Given the description of an element on the screen output the (x, y) to click on. 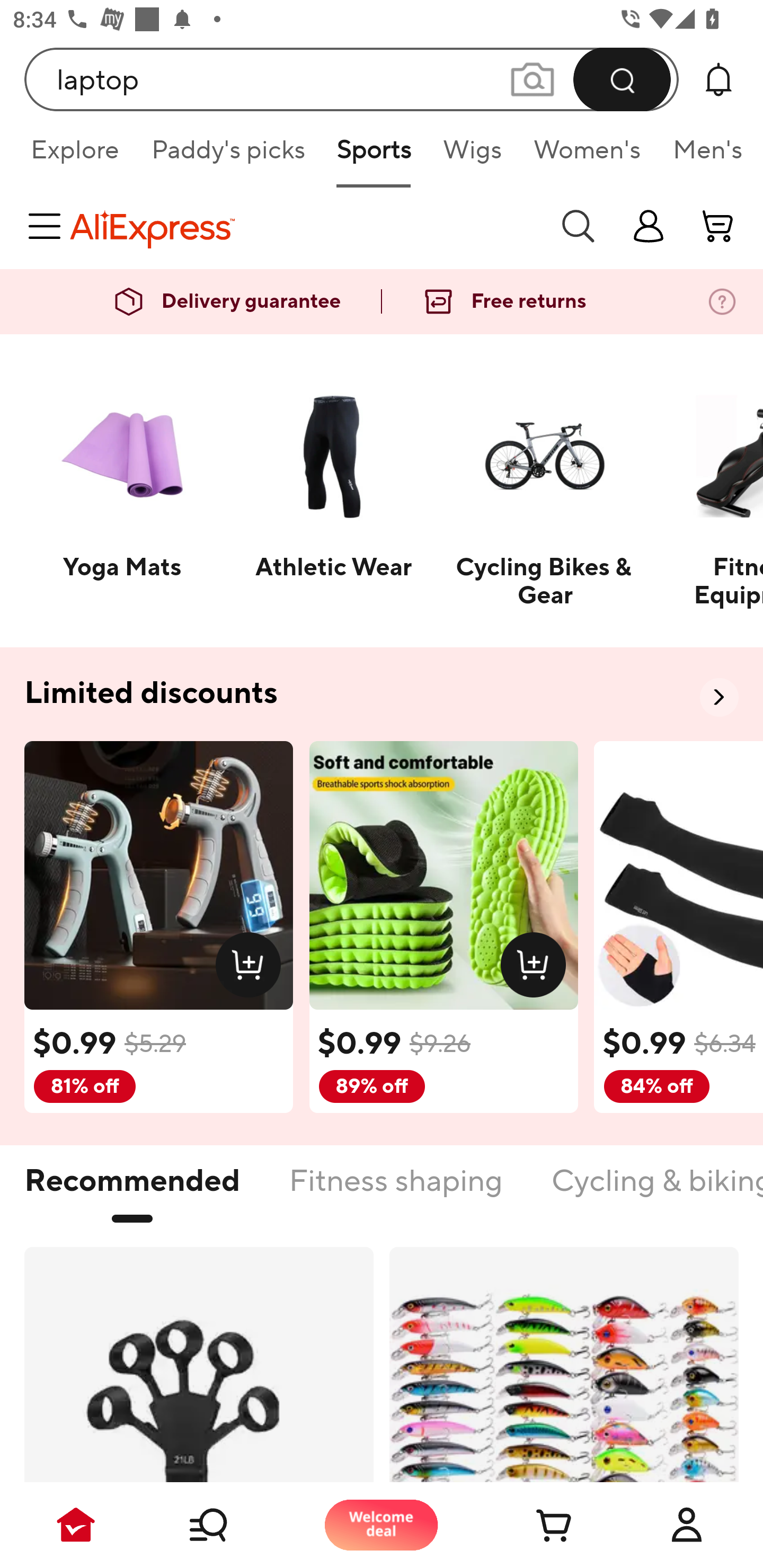
laptop (351, 79)
Explore (74, 155)
Paddy's picks (227, 155)
Wigs (472, 155)
Women's (586, 155)
Men's (701, 155)
aliexpress (305, 225)
category (47, 225)
shop (648, 225)
account (718, 225)
Limited discounts  Limited discounts (381, 694)
128x128.png_ (252, 967)
128x128.png_ (536, 967)
Recommended (132, 1191)
Fitness shaping (395, 1191)
Cycling & biking (656, 1191)
Shop (228, 1524)
Cart (533, 1524)
Account (686, 1524)
